Given the description of an element on the screen output the (x, y) to click on. 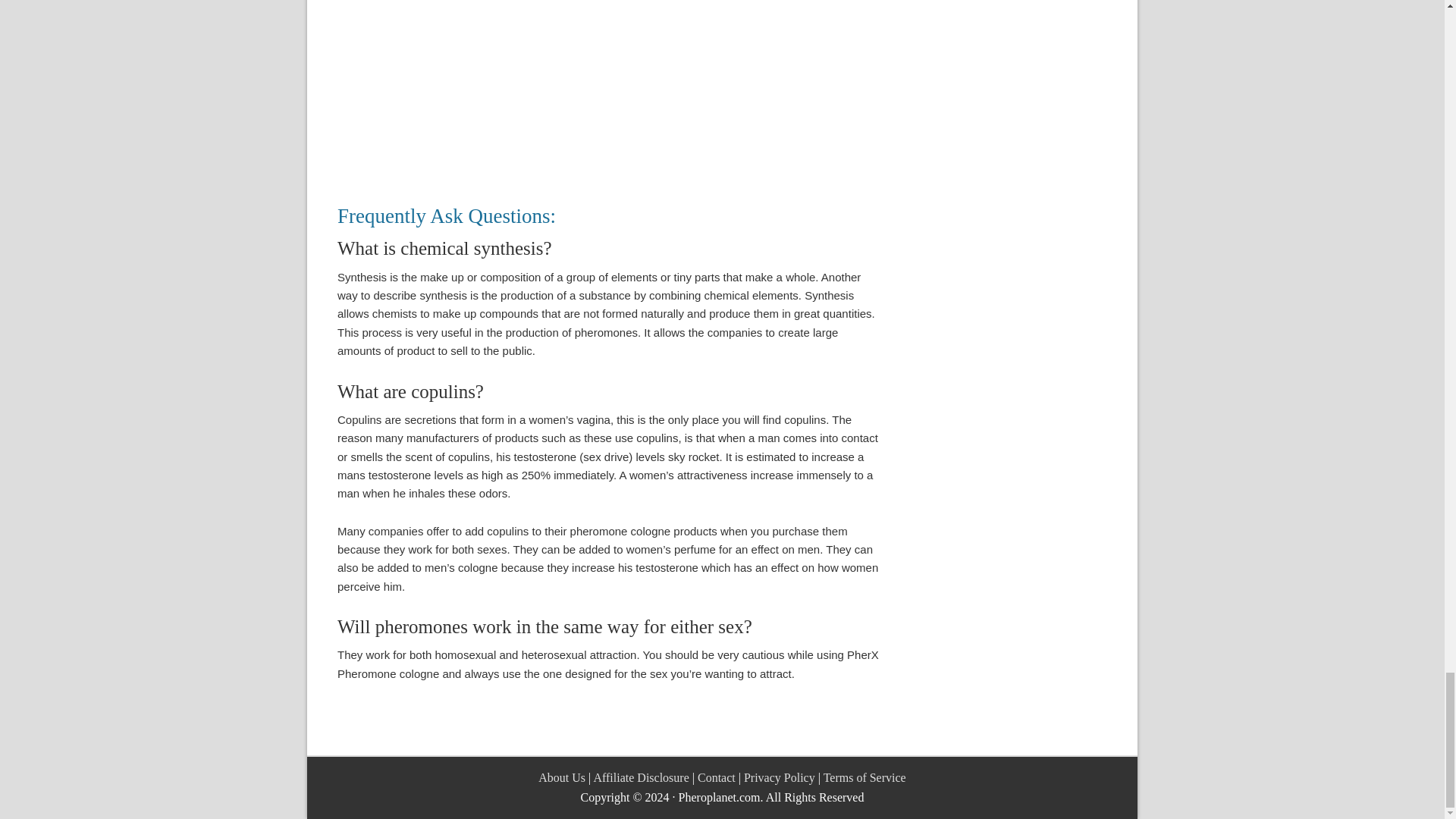
Pherazone (526, 89)
Privacy Policy (779, 777)
Affiliate Disclosure (640, 777)
Terms of Service (864, 777)
About Us (561, 777)
Contact (716, 777)
